Given the description of an element on the screen output the (x, y) to click on. 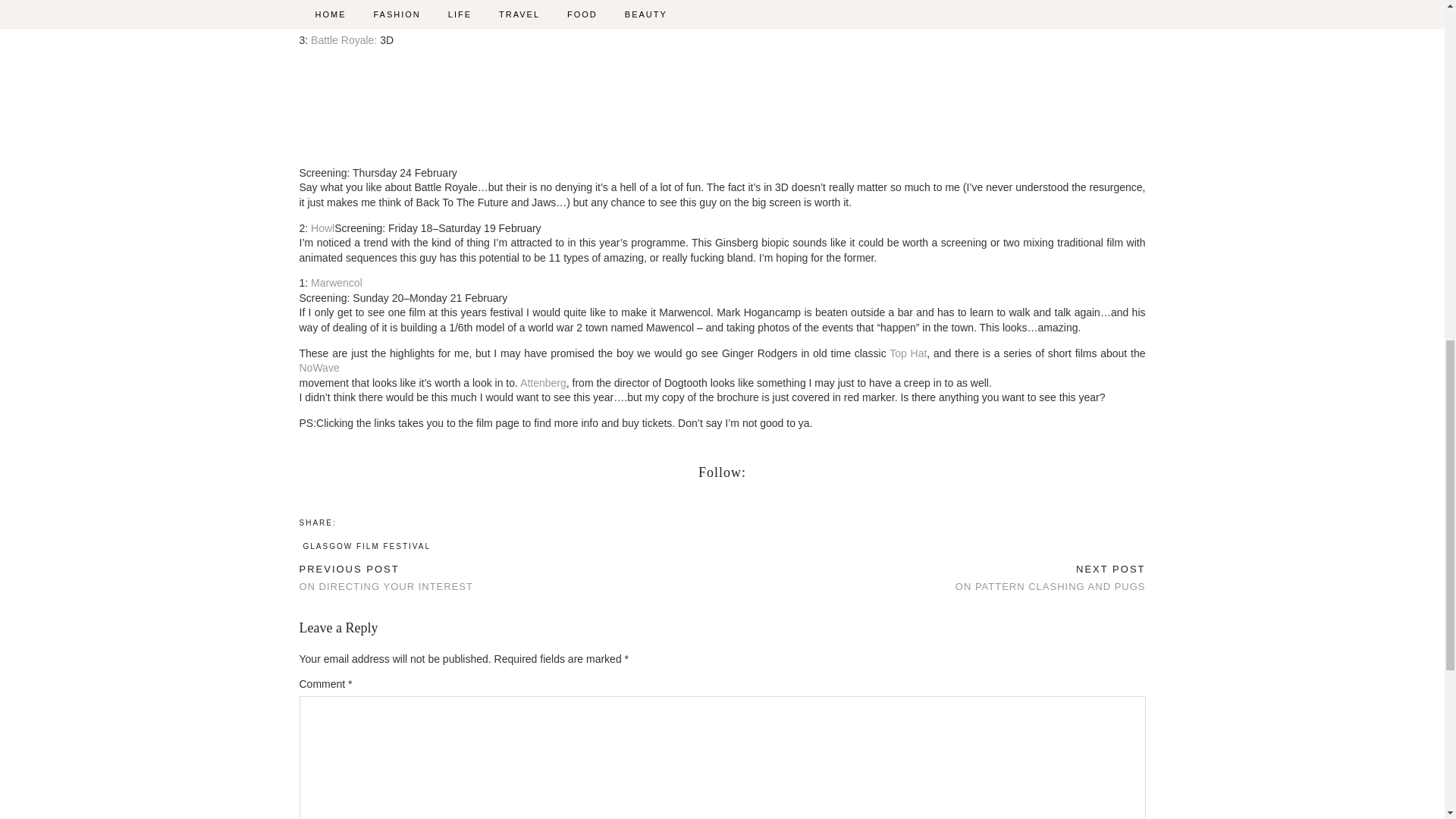
NoWave (318, 367)
Battle Royale: (344, 39)
Howl (322, 227)
Top Hat (907, 353)
GLASGOW FILM FESTIVAL (366, 546)
YouTube video player (411, 104)
Attenberg (1050, 578)
Marwencol (384, 578)
